Given the description of an element on the screen output the (x, y) to click on. 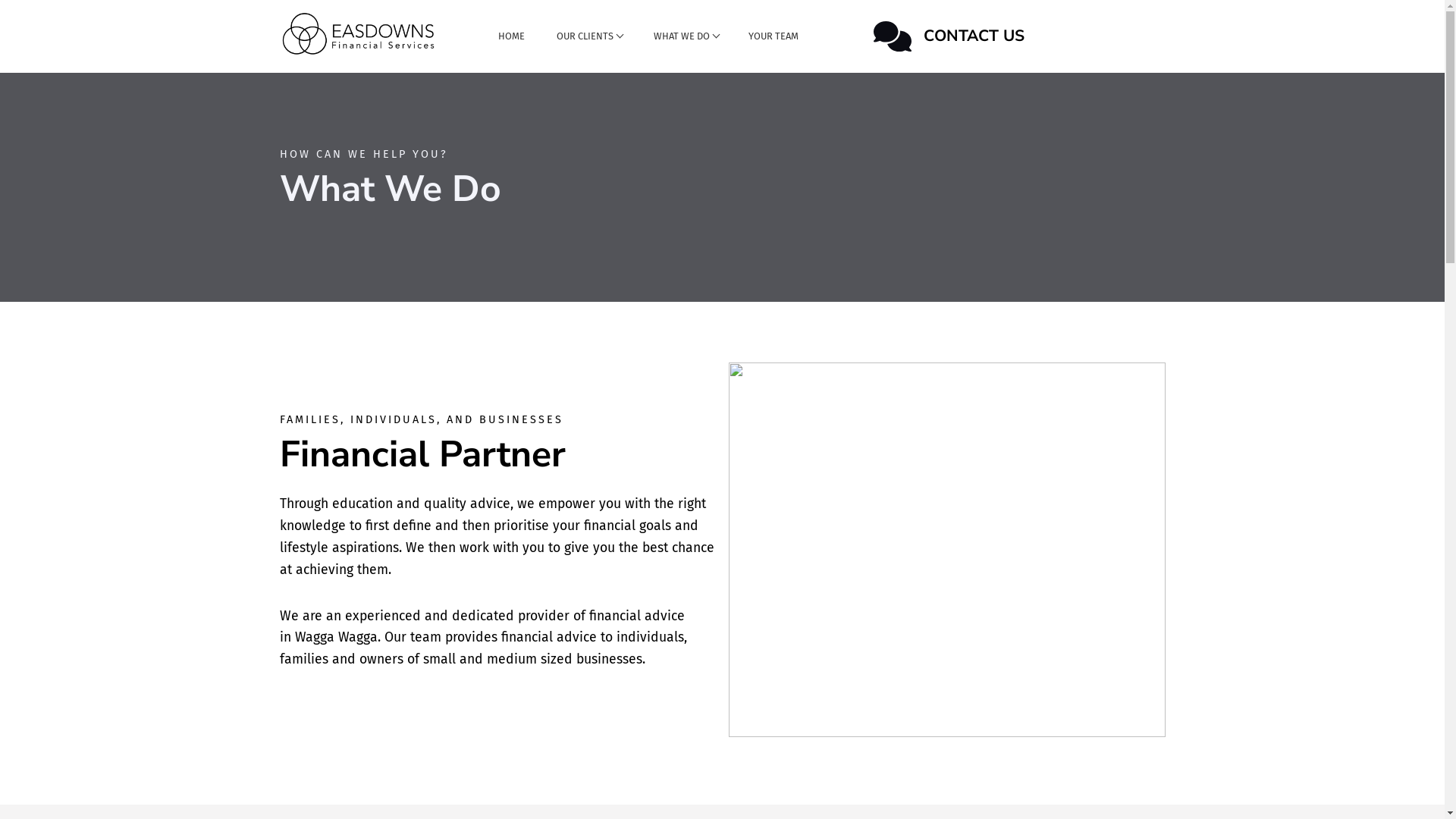
CONTACT US Element type: text (1017, 36)
YOUR TEAM Element type: text (772, 35)
HOME Element type: text (511, 35)
OUR CLIENTS Element type: text (588, 35)
WHAT WE DO Element type: text (685, 35)
